Given the description of an element on the screen output the (x, y) to click on. 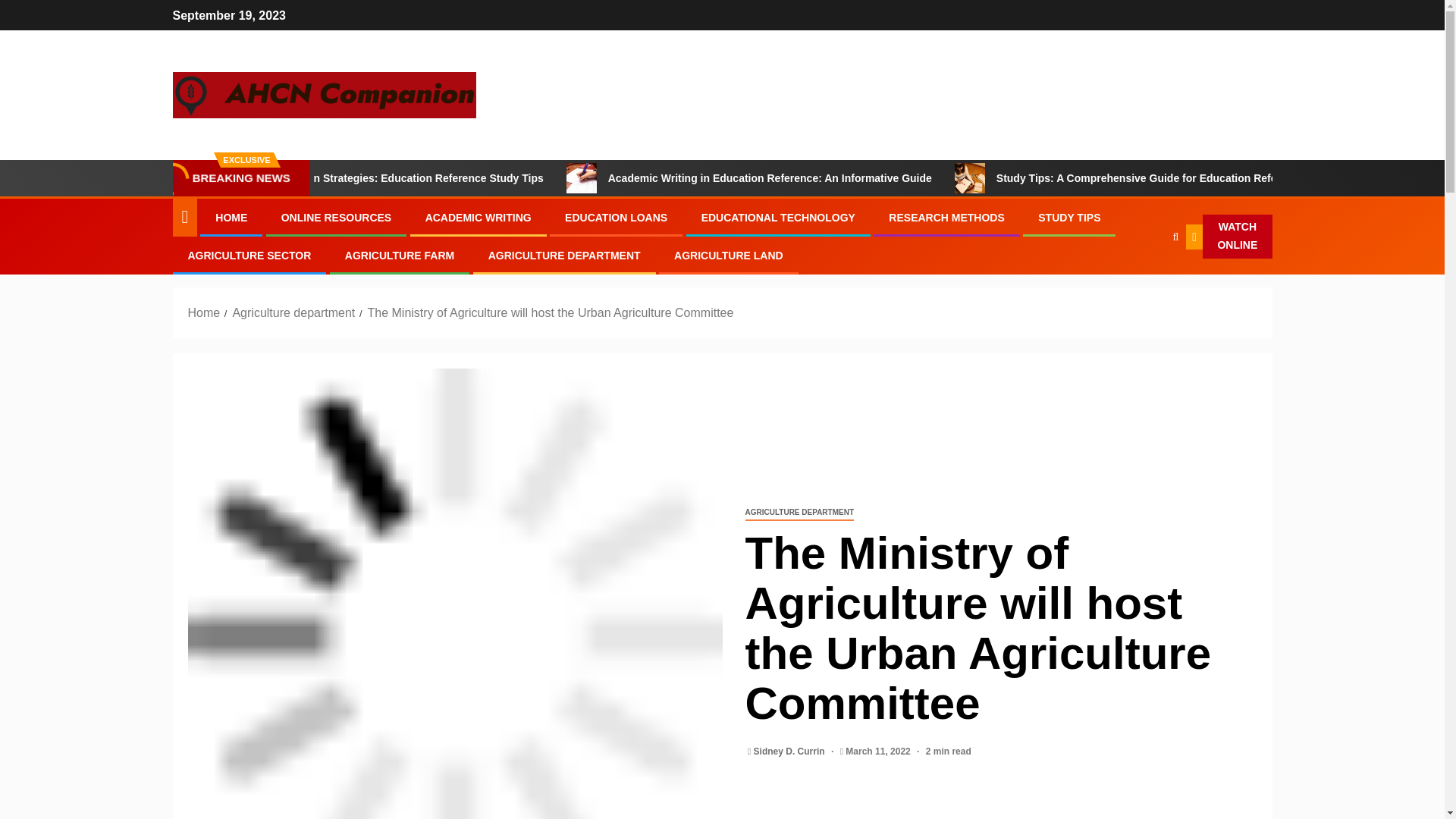
Home (204, 312)
AGRICULTURE LAND (728, 255)
Sidney D. Currin (790, 751)
ONLINE RESOURCES (336, 217)
AGRICULTURE DEPARTMENT (798, 512)
Study Tips: A Comprehensive Guide for Education Reference (1244, 177)
EDUCATIONAL TECHNOLOGY (778, 217)
AGRICULTURE DEPARTMENT (563, 255)
STUDY TIPS (1069, 217)
RESEARCH METHODS (946, 217)
AGRICULTURE SECTOR (249, 255)
Test Preparation Strategies: Education Reference Study Tips (486, 177)
HOME (231, 217)
Agriculture department (293, 312)
